Given the description of an element on the screen output the (x, y) to click on. 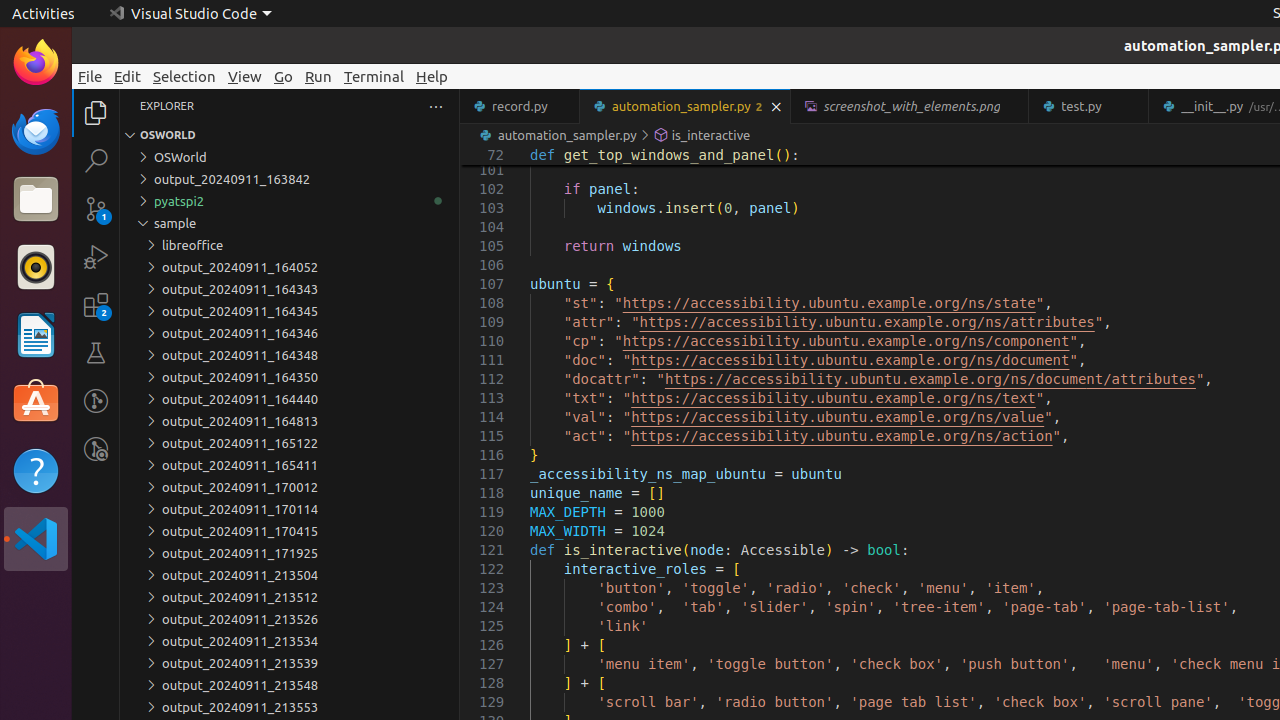
File Element type: push-button (90, 76)
output_20240911_213504 Element type: tree-item (289, 575)
View Element type: push-button (245, 76)
Run and Debug (Ctrl+Shift+D) Element type: page-tab (96, 257)
